Given the description of an element on the screen output the (x, y) to click on. 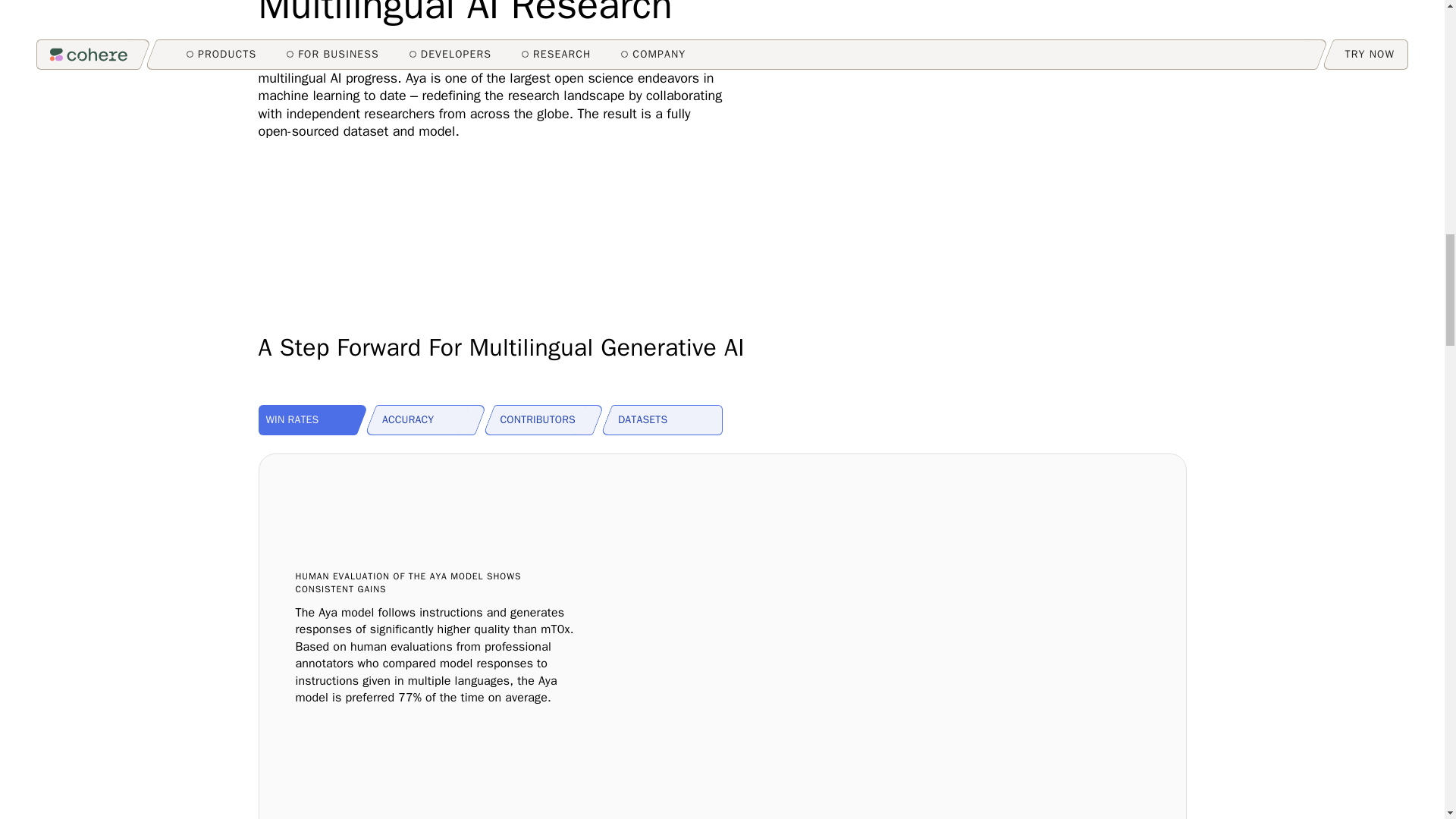
DATASETS (666, 419)
ACCURACY (430, 419)
CONTRIBUTORS (550, 419)
WIN RATES (312, 419)
